Given the description of an element on the screen output the (x, y) to click on. 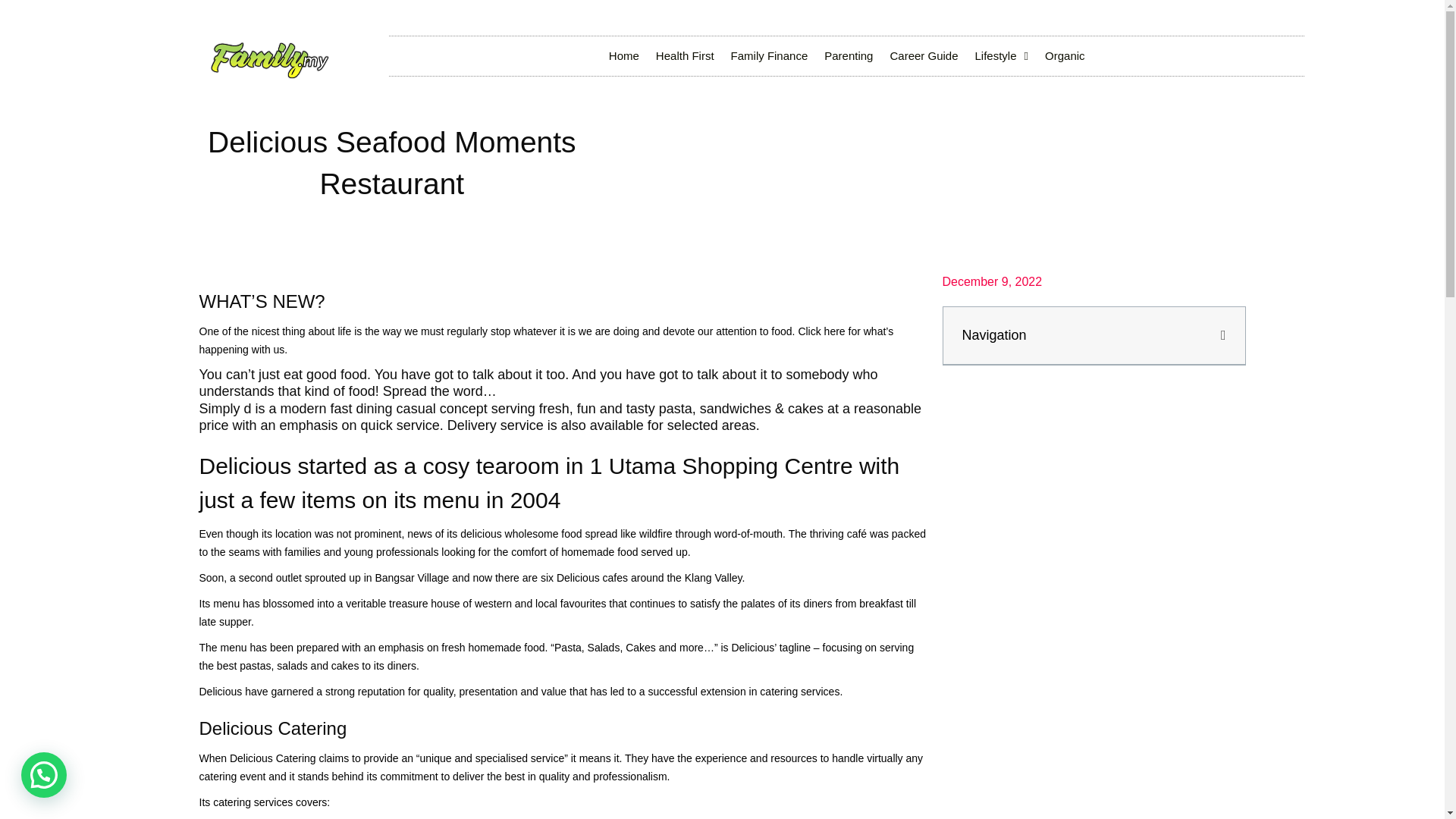
Organic (1064, 56)
Health First (684, 56)
Parenting (847, 56)
Family Finance (769, 56)
Career Guide (923, 56)
Home (623, 56)
Lifestyle (1001, 56)
